Given the description of an element on the screen output the (x, y) to click on. 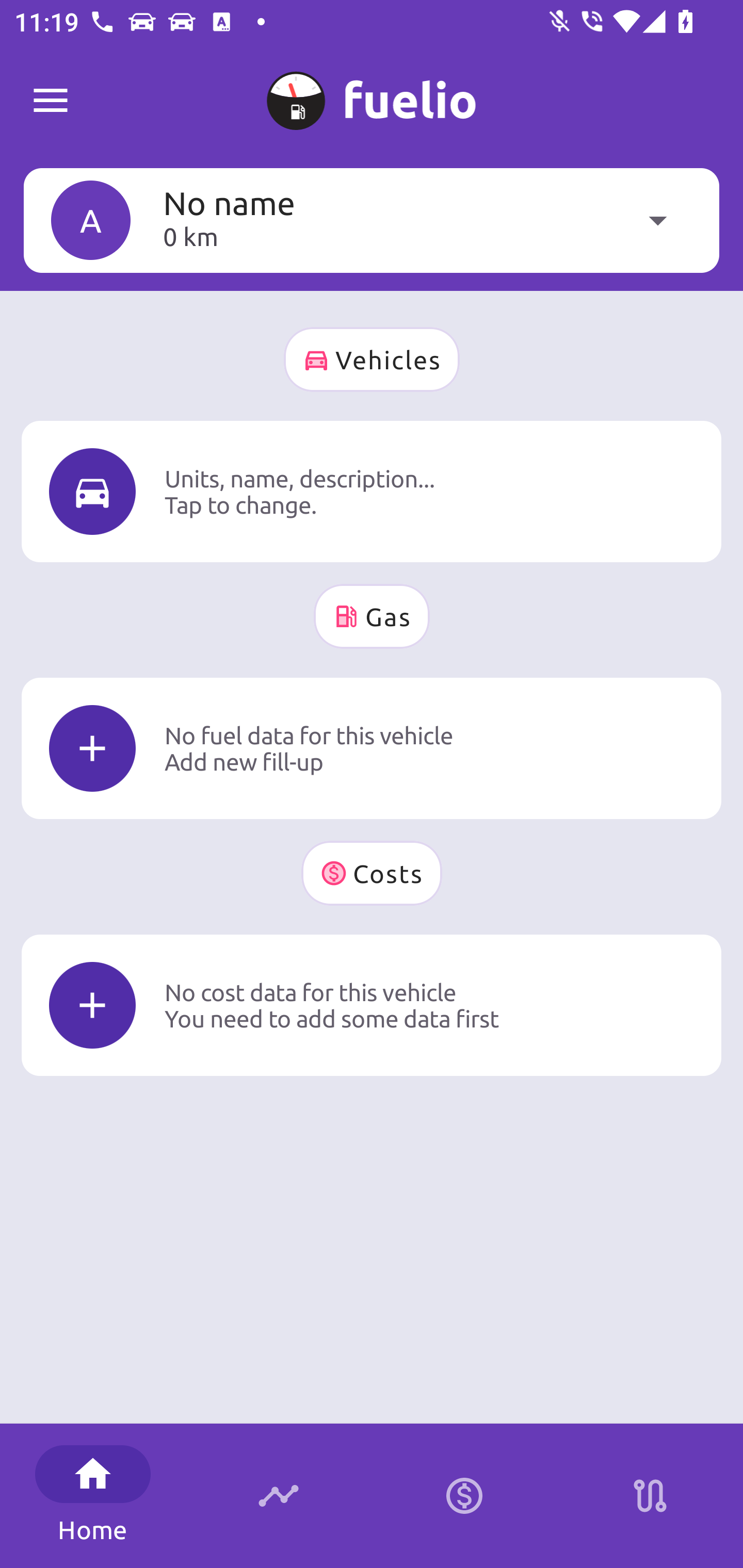
Fuelio (50, 101)
A No name 0 km (371, 219)
Vehicles (371, 359)
Icon Units, name, description...
Tap to change. (371, 491)
Icon (92, 491)
Gas (371, 616)
Icon No fuel data for this vehicle
Add new fill-up (371, 747)
Icon (92, 748)
Costs (371, 873)
Icon (92, 1004)
Timeline (278, 1495)
Calculator (464, 1495)
Stations on route (650, 1495)
